Given the description of an element on the screen output the (x, y) to click on. 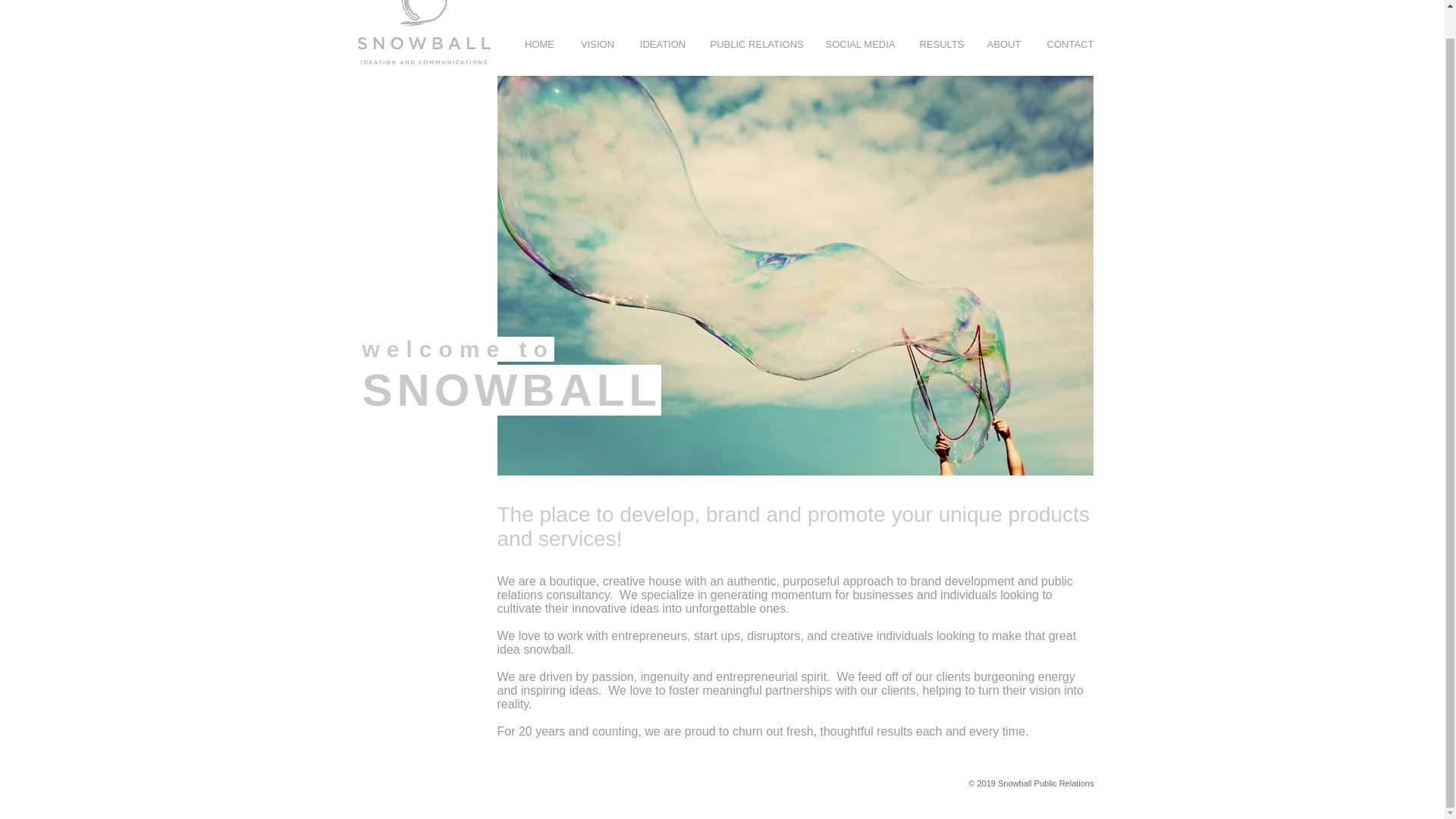
RESULTS (941, 44)
IDEATION (662, 44)
SOCIAL MEDIA (860, 44)
HOME (540, 44)
ABOUT (1003, 44)
PUBLIC RELATIONS (755, 44)
welcome to (458, 348)
VISION (598, 44)
CONTACT (1069, 44)
